Given the description of an element on the screen output the (x, y) to click on. 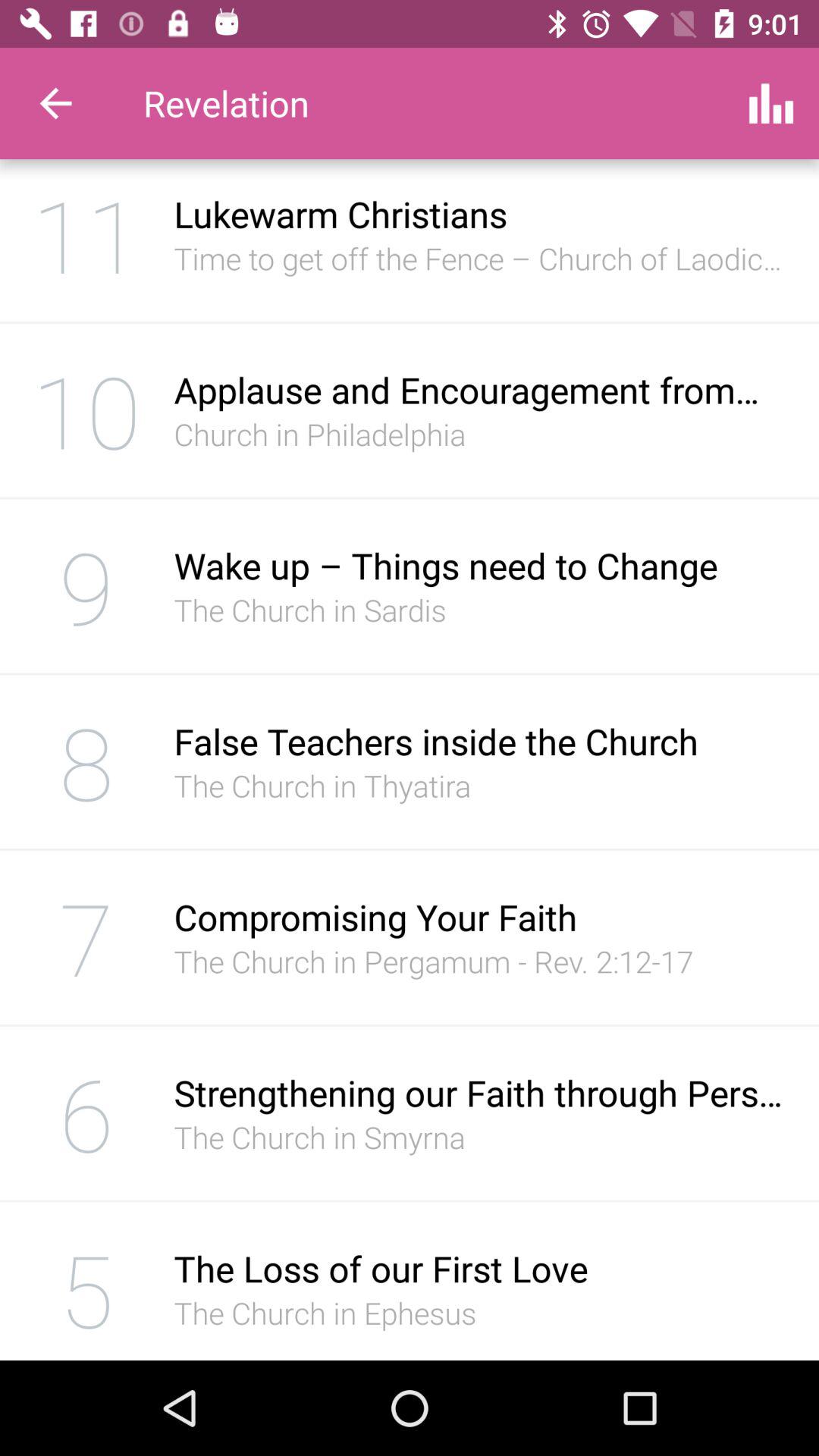
open item next to the wake up things item (86, 585)
